Given the description of an element on the screen output the (x, y) to click on. 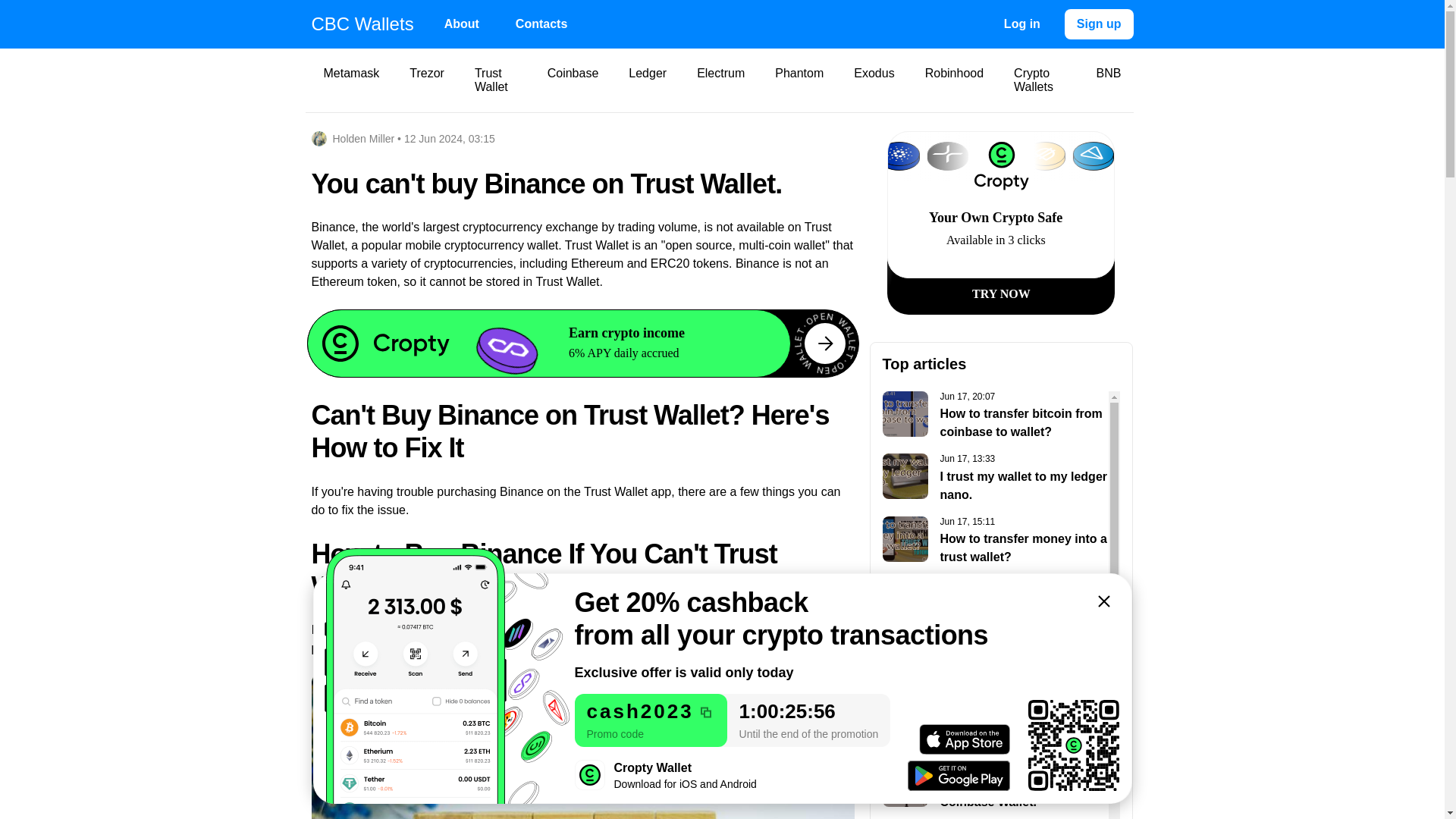
Phantom (995, 541)
Metamask (798, 79)
Exodus (995, 664)
About (351, 79)
Trezor (873, 79)
Robinhood (462, 24)
Contacts (995, 603)
CBC Wallets (995, 786)
BNB (427, 79)
